Given the description of an element on the screen output the (x, y) to click on. 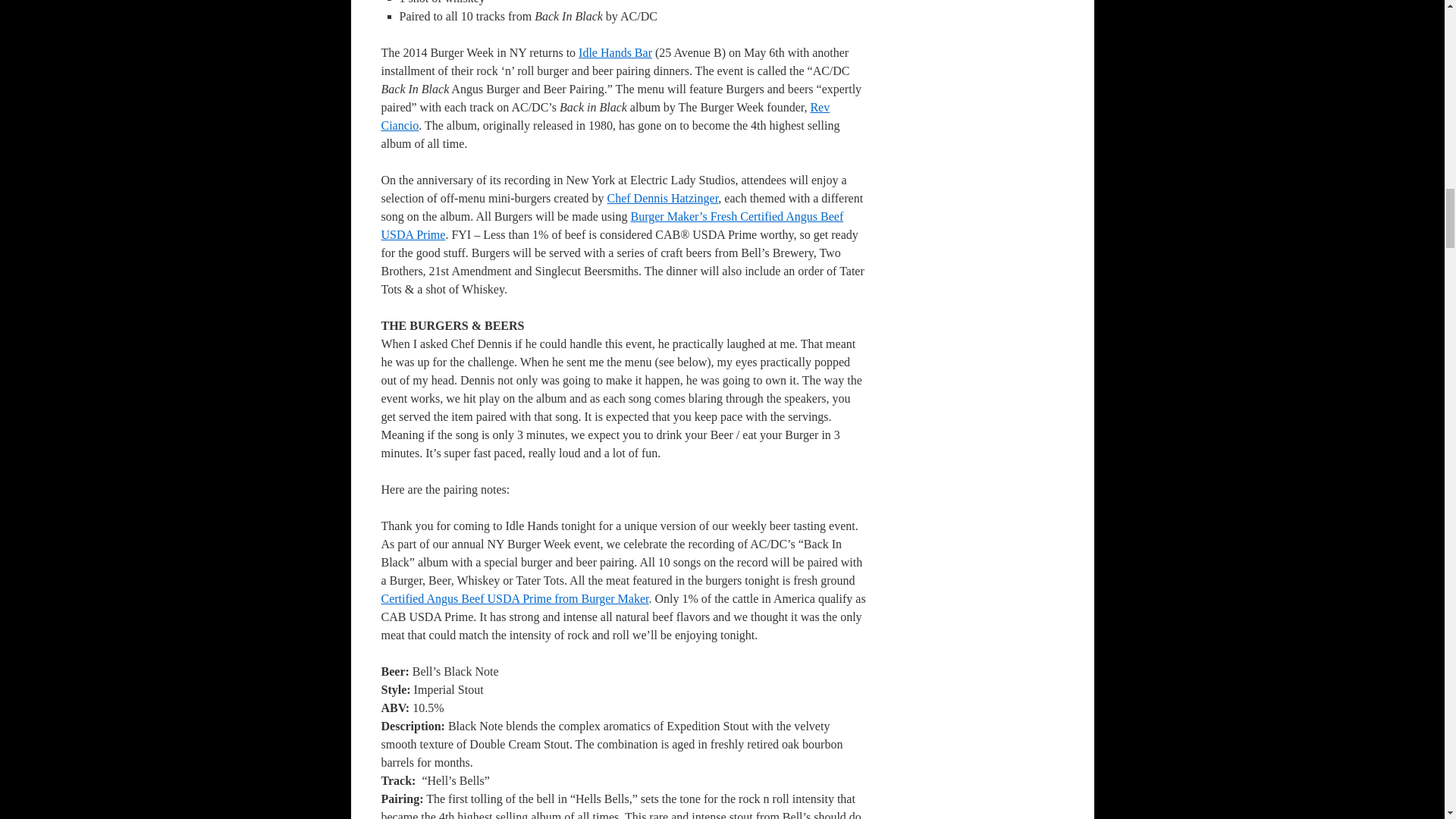
Certified Angus Beef USDA Prime from Burger Maker (513, 598)
Idle Hands Bar (615, 51)
Chef Dennis Hatzinger (662, 197)
Rev Ciancio (604, 115)
